Given the description of an element on the screen output the (x, y) to click on. 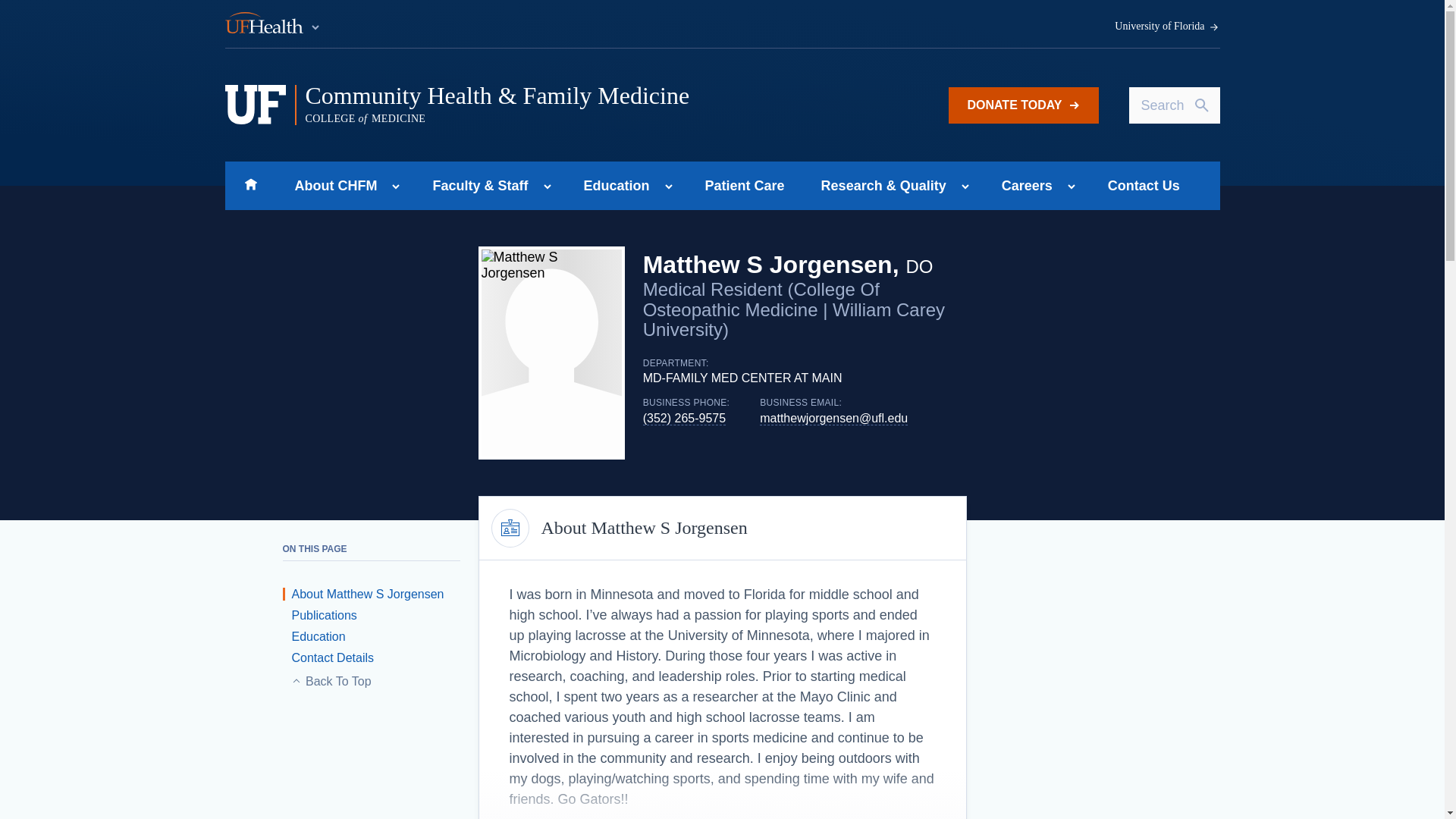
University of Florida (1167, 26)
UF Health (272, 24)
DONATE TODAY (1023, 104)
About CHFM (330, 185)
Home (250, 185)
